Given the description of an element on the screen output the (x, y) to click on. 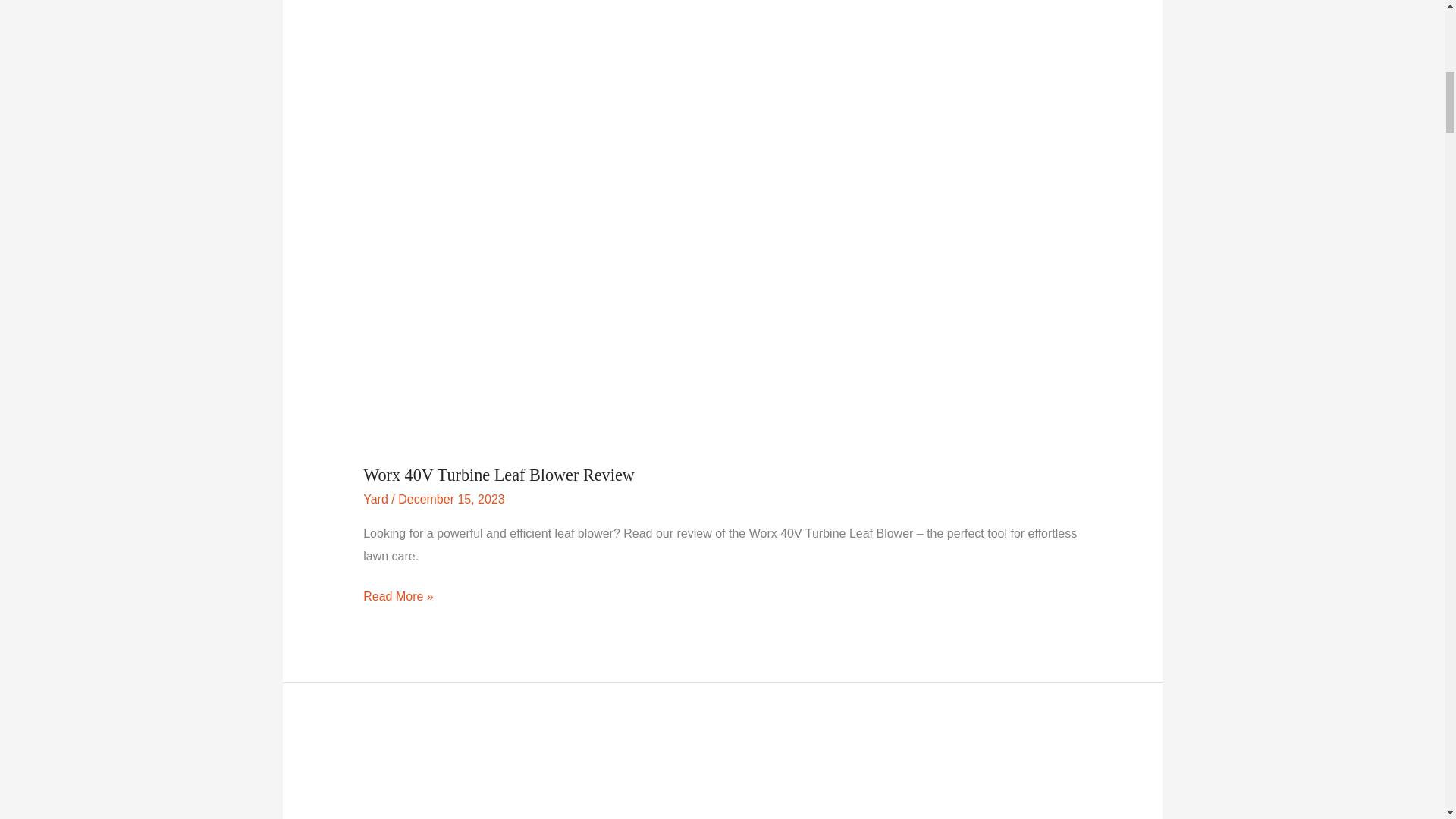
Yard (375, 499)
Worx 40V Turbine Leaf Blower Review (498, 475)
